Given the description of an element on the screen output the (x, y) to click on. 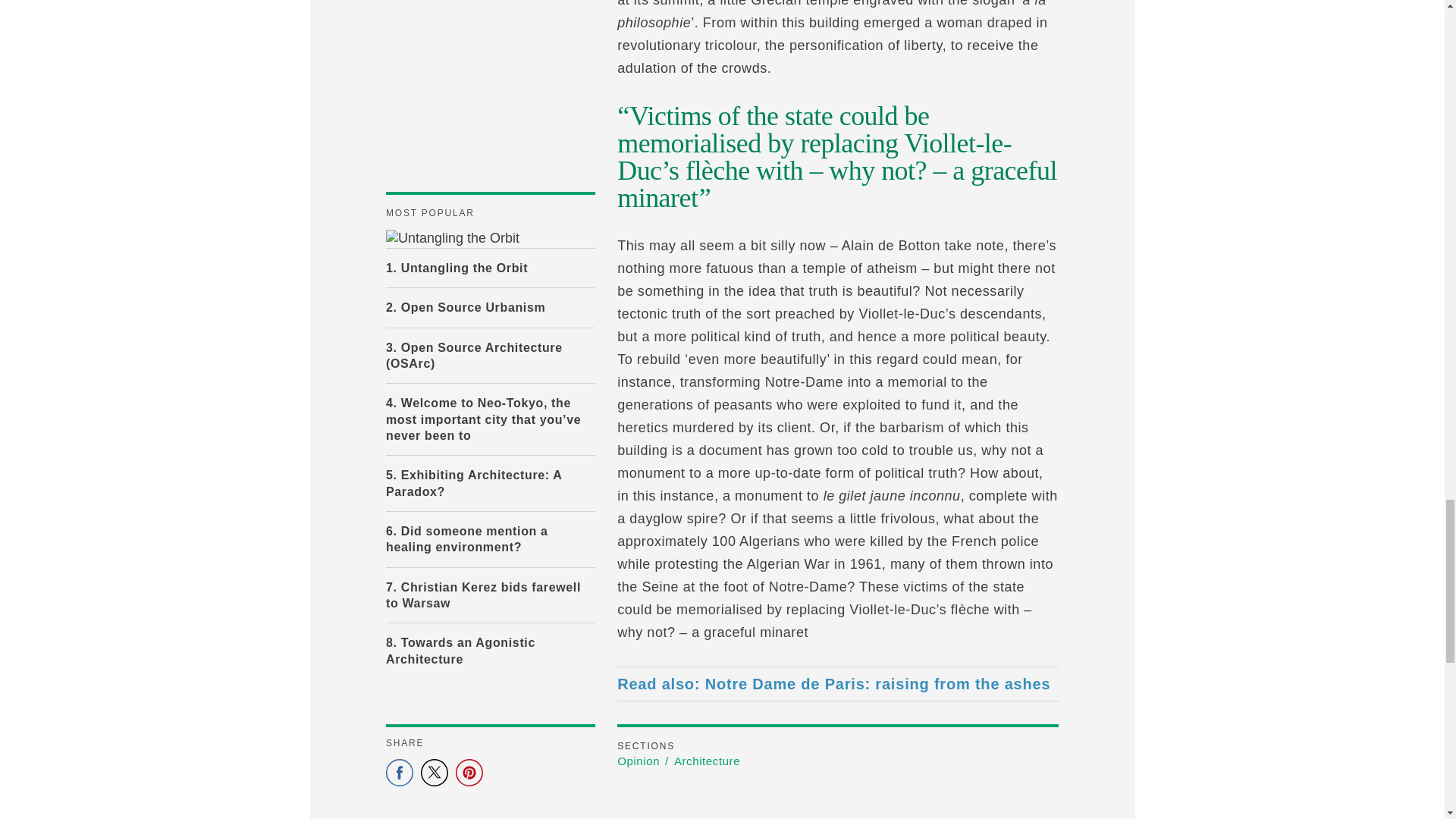
Untangling the Orbit (489, 239)
